Given the description of an element on the screen output the (x, y) to click on. 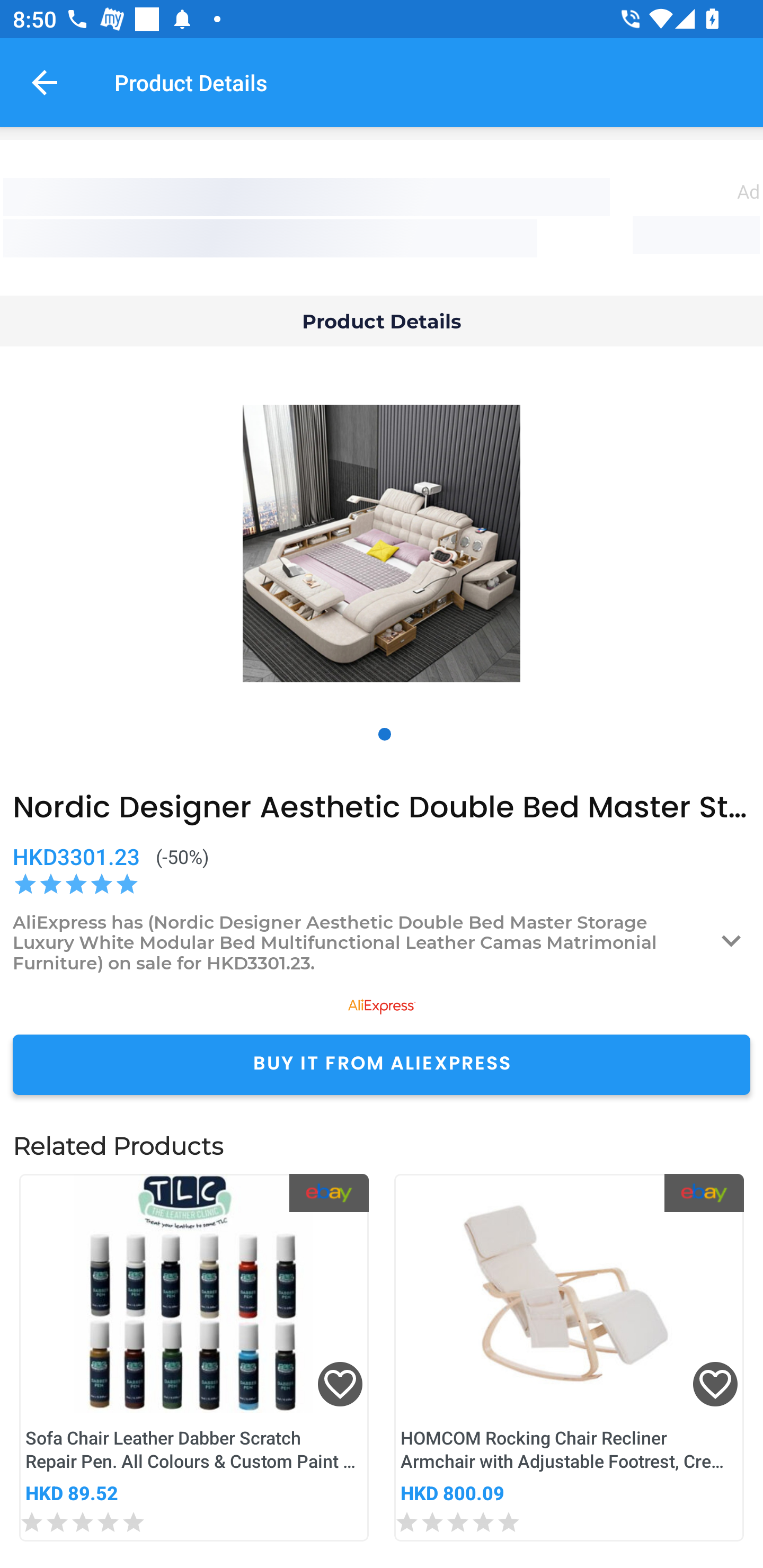
Navigate up (44, 82)
BUY IT FROM ALIEXPRESS (381, 1064)
